Given the description of an element on the screen output the (x, y) to click on. 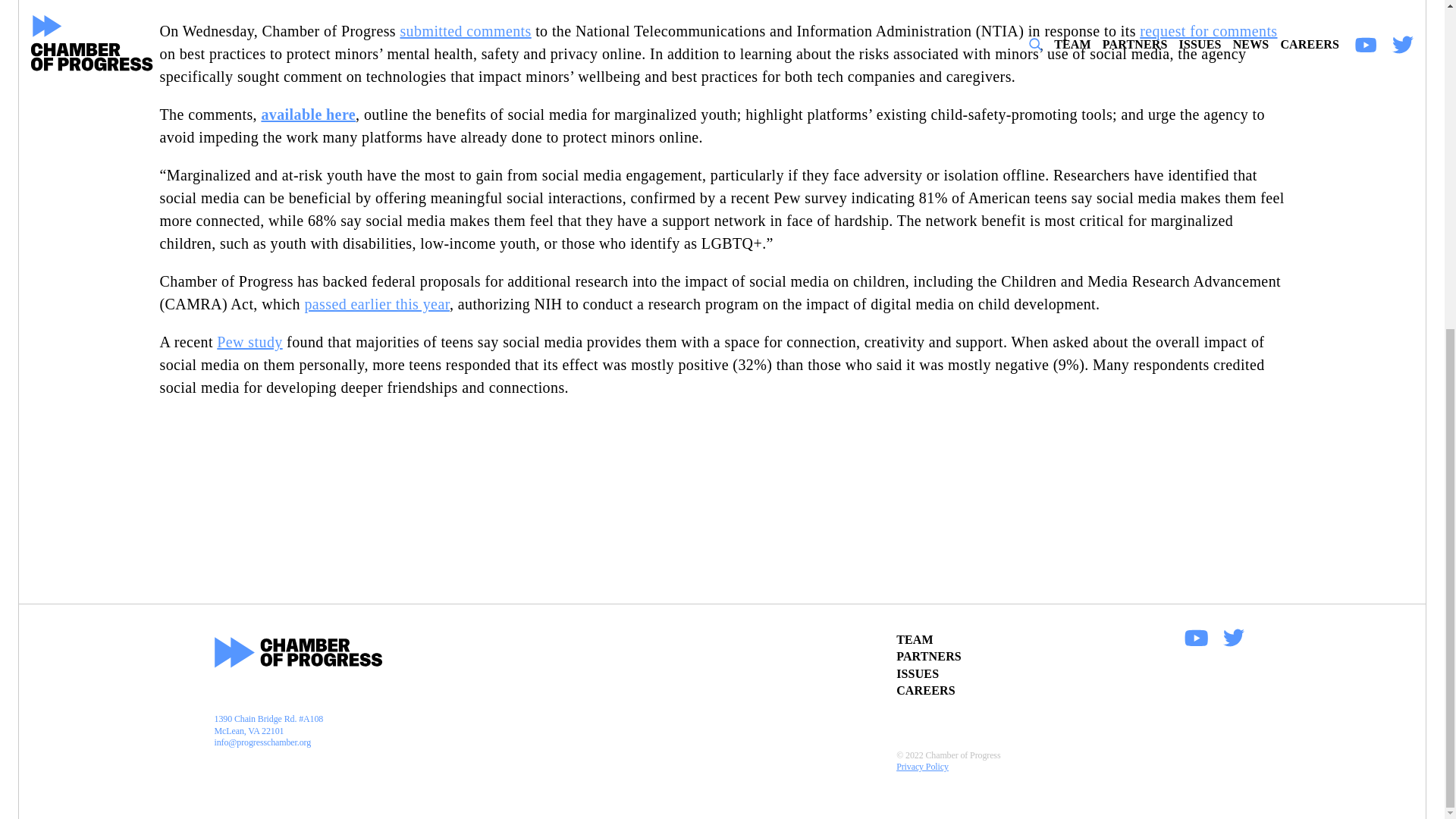
request for comments (1208, 30)
submitted comments (464, 30)
PARTNERS (928, 656)
ISSUES (917, 673)
passed earlier this year (376, 303)
CAREERS (925, 689)
Pew study (249, 341)
Privacy Policy (1070, 767)
available here (307, 114)
TEAM (914, 639)
